Given the description of an element on the screen output the (x, y) to click on. 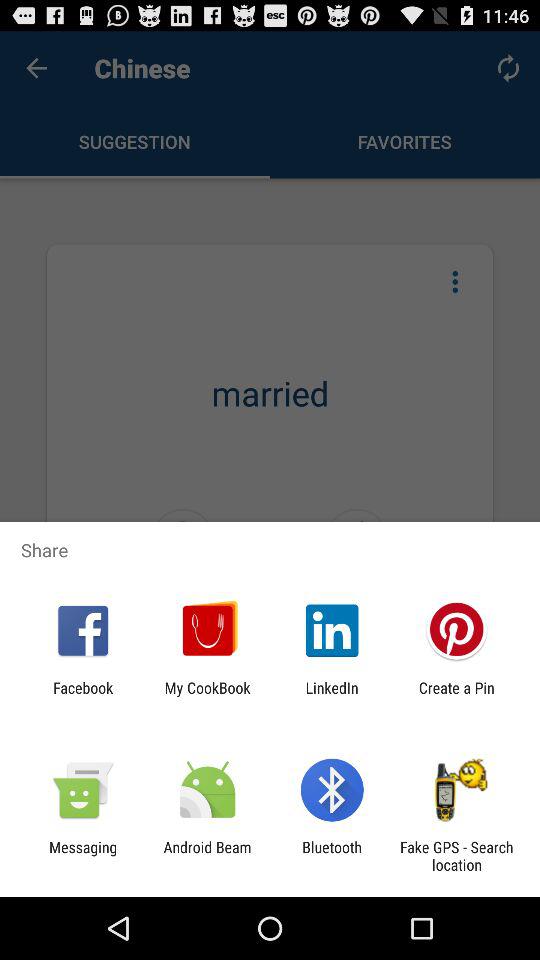
turn off app to the left of create a pin (331, 696)
